Given the description of an element on the screen output the (x, y) to click on. 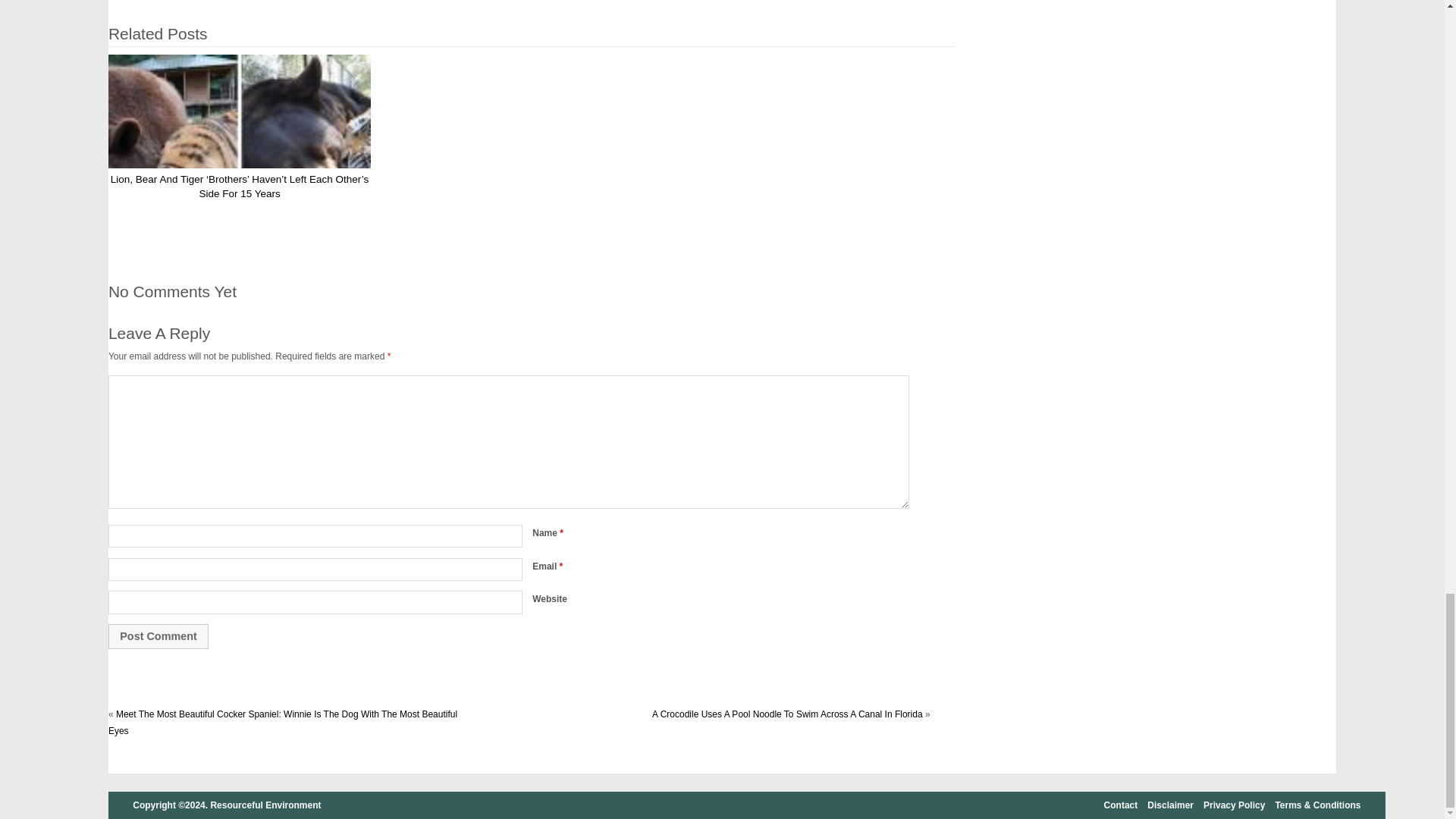
Post Comment (157, 636)
Post Comment (157, 636)
